Given the description of an element on the screen output the (x, y) to click on. 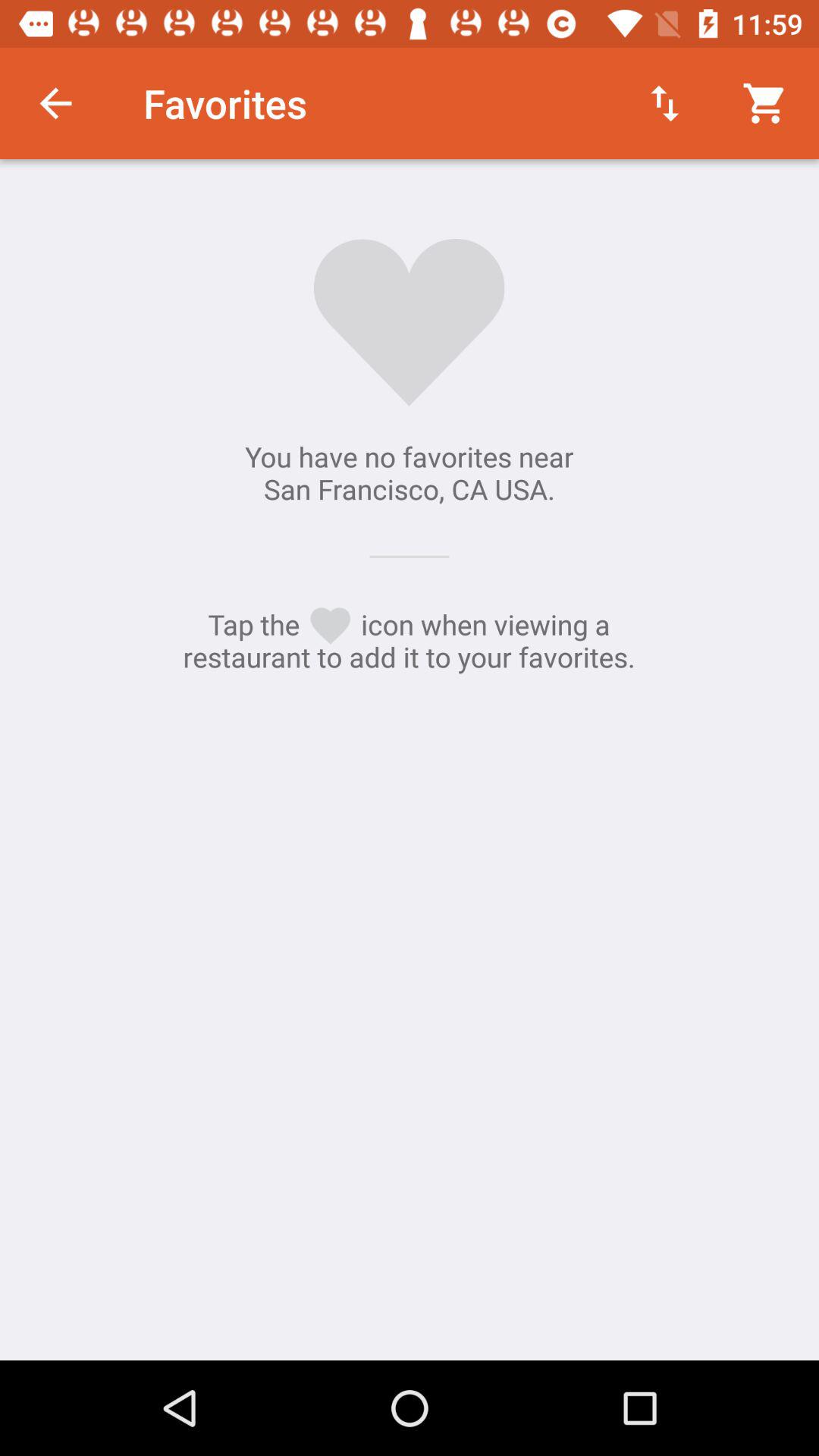
select the item next to favorites icon (55, 103)
